Given the description of an element on the screen output the (x, y) to click on. 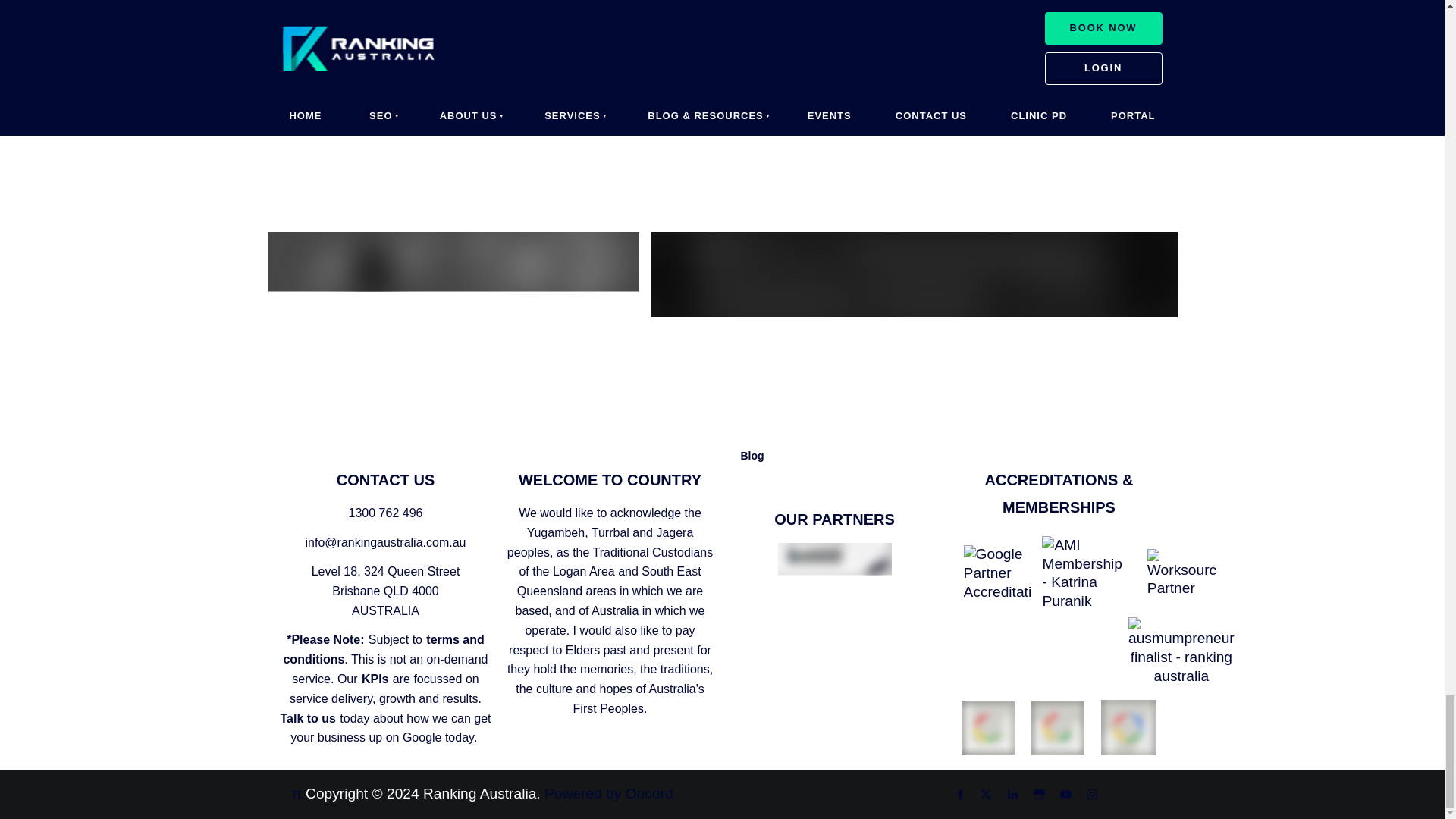
Accept our terms and get started (592, 82)
Check out Oncord - Your Wesbite Marketing Platform (452, 261)
Contact Ranking Australia (904, 82)
Oncord - Website Marketing Platform (913, 273)
